Given the description of an element on the screen output the (x, y) to click on. 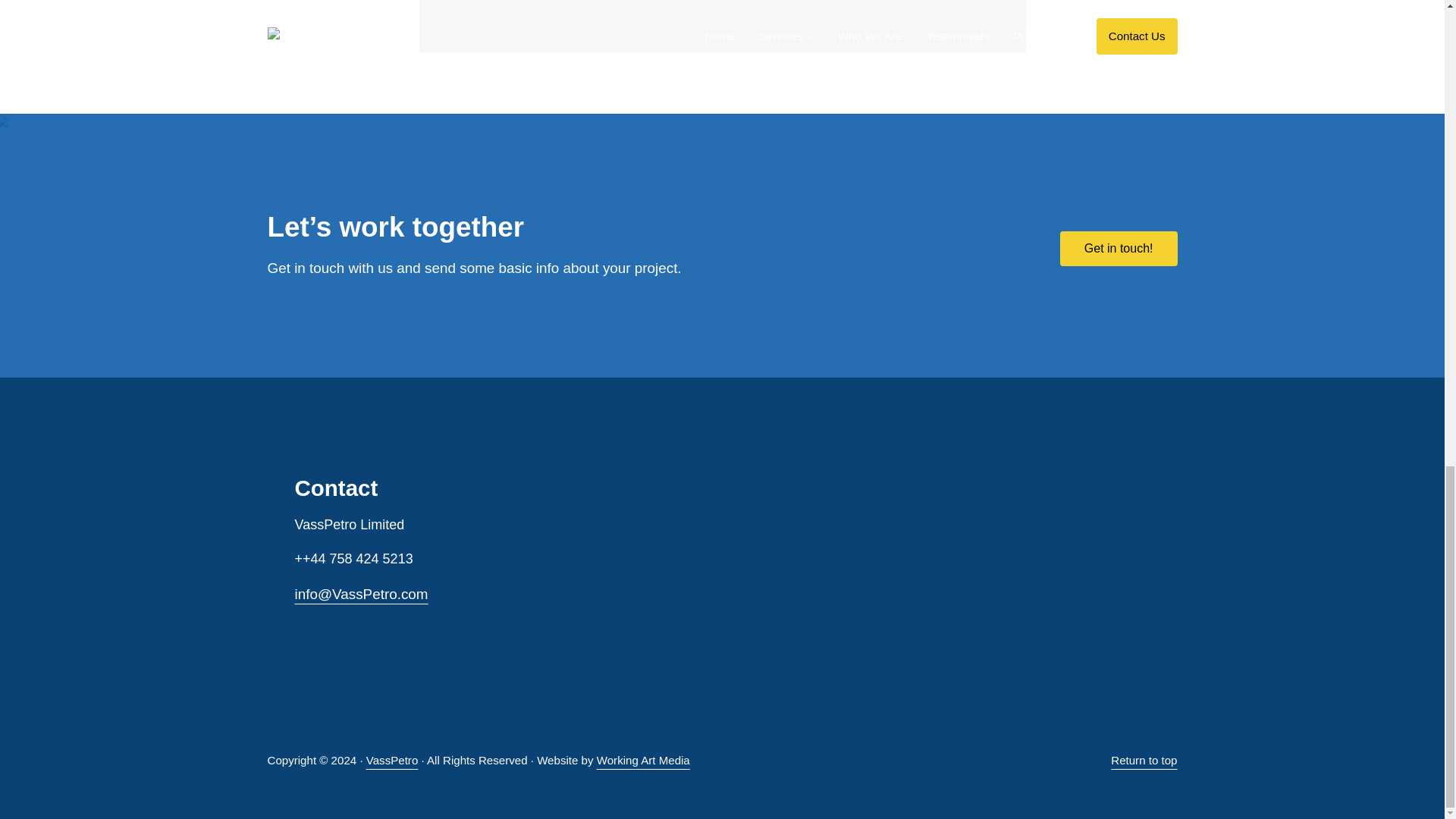
Get in touch! (1118, 248)
VassPetro (392, 759)
Working Art Media (643, 759)
Return to top (1143, 759)
